Given the description of an element on the screen output the (x, y) to click on. 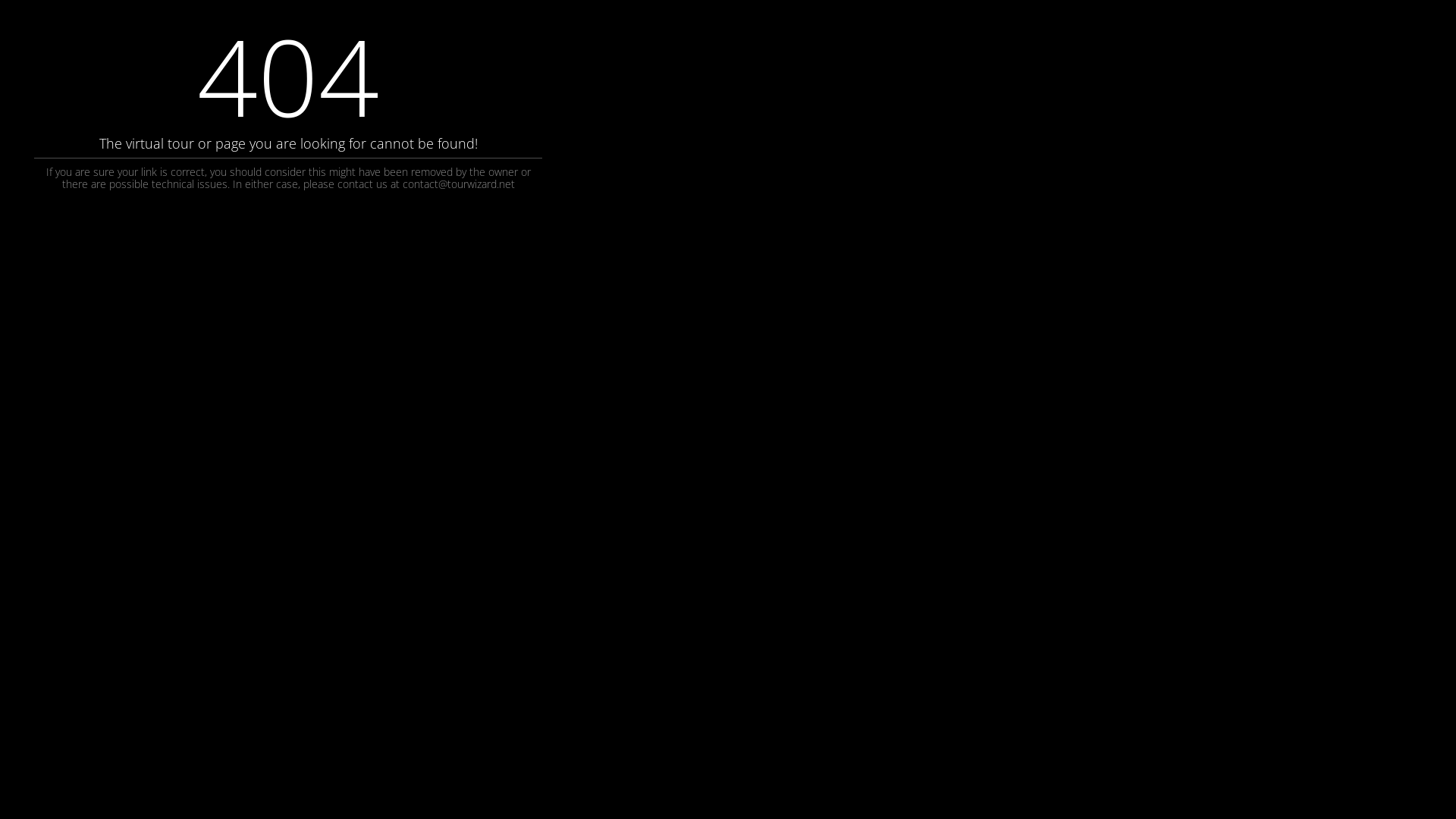
contact@tourwizard.net Element type: text (457, 183)
